Given the description of an element on the screen output the (x, y) to click on. 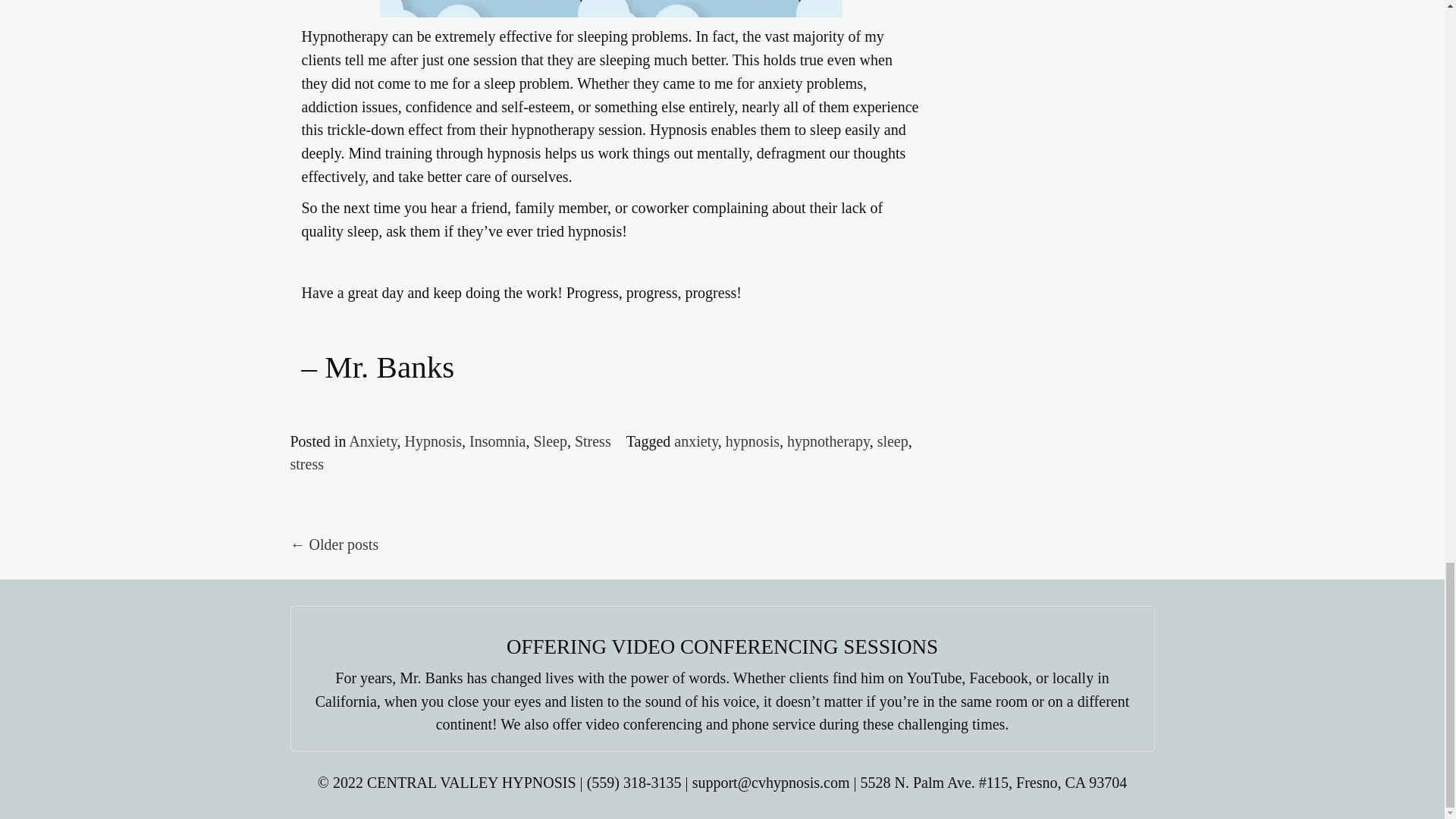
Anxiety (372, 441)
Stress (593, 441)
Insomnia (496, 441)
anxiety (695, 441)
Sleep (549, 441)
Hypnosis (432, 441)
